Given the description of an element on the screen output the (x, y) to click on. 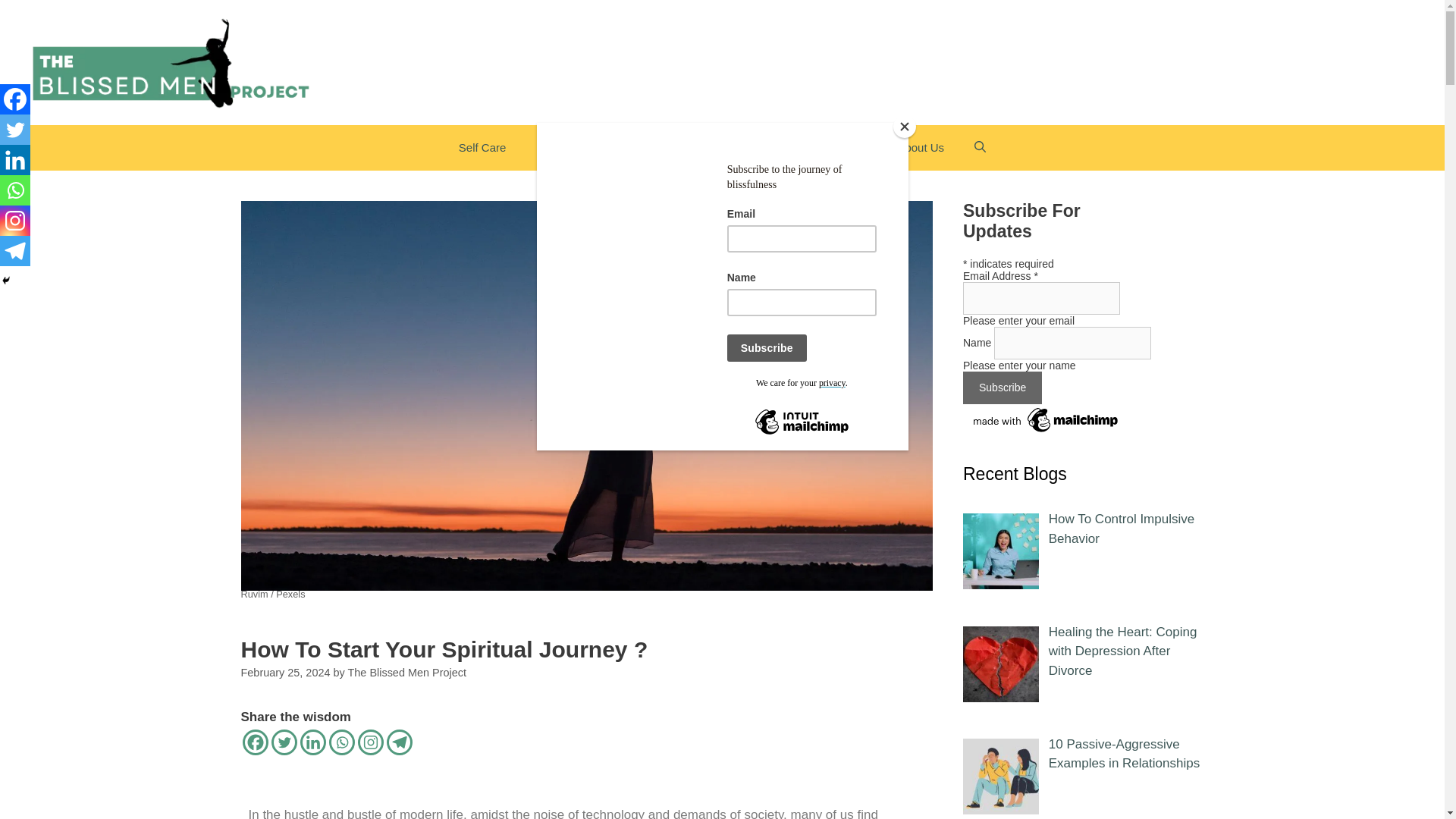
Instagram (371, 742)
Research (842, 147)
Mental Health (571, 147)
Self Care (482, 147)
The Blissed Men Project (406, 672)
Linkedin (312, 742)
Twitter (283, 742)
Spirituality (761, 147)
Telegram (399, 742)
About Us (920, 147)
Whatsapp (342, 742)
Relationships (670, 147)
View all posts by The Blissed Men Project (406, 672)
Subscribe (1002, 387)
Facebook (255, 742)
